Given the description of an element on the screen output the (x, y) to click on. 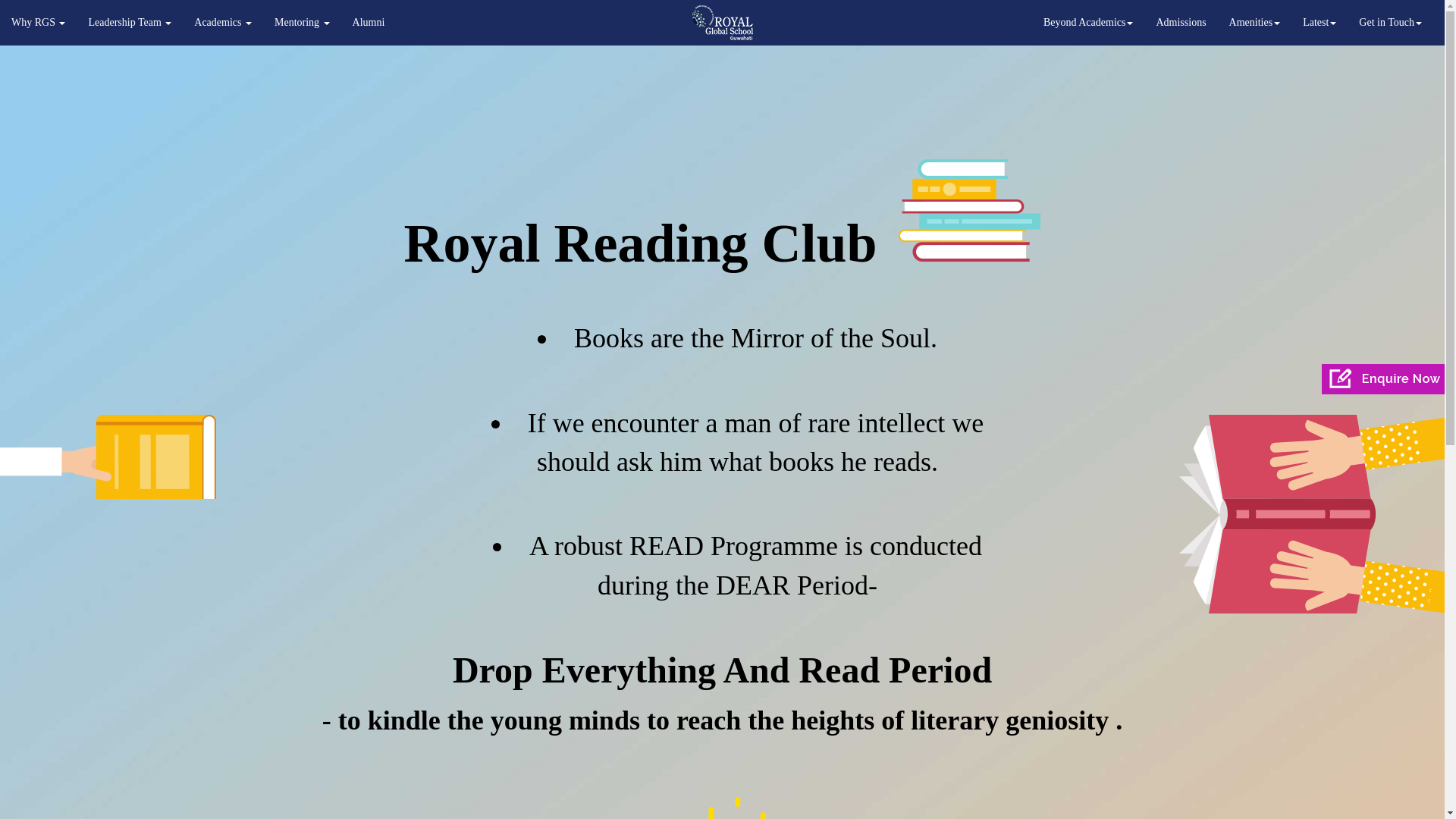
Academics (223, 22)
Why RGS (38, 22)
Latest (1319, 22)
Beyond Academics (1088, 22)
Mentoring (301, 22)
Leadership Team (130, 22)
Amenities (1254, 22)
Alumni (368, 22)
Admissions (1180, 22)
